Given the description of an element on the screen output the (x, y) to click on. 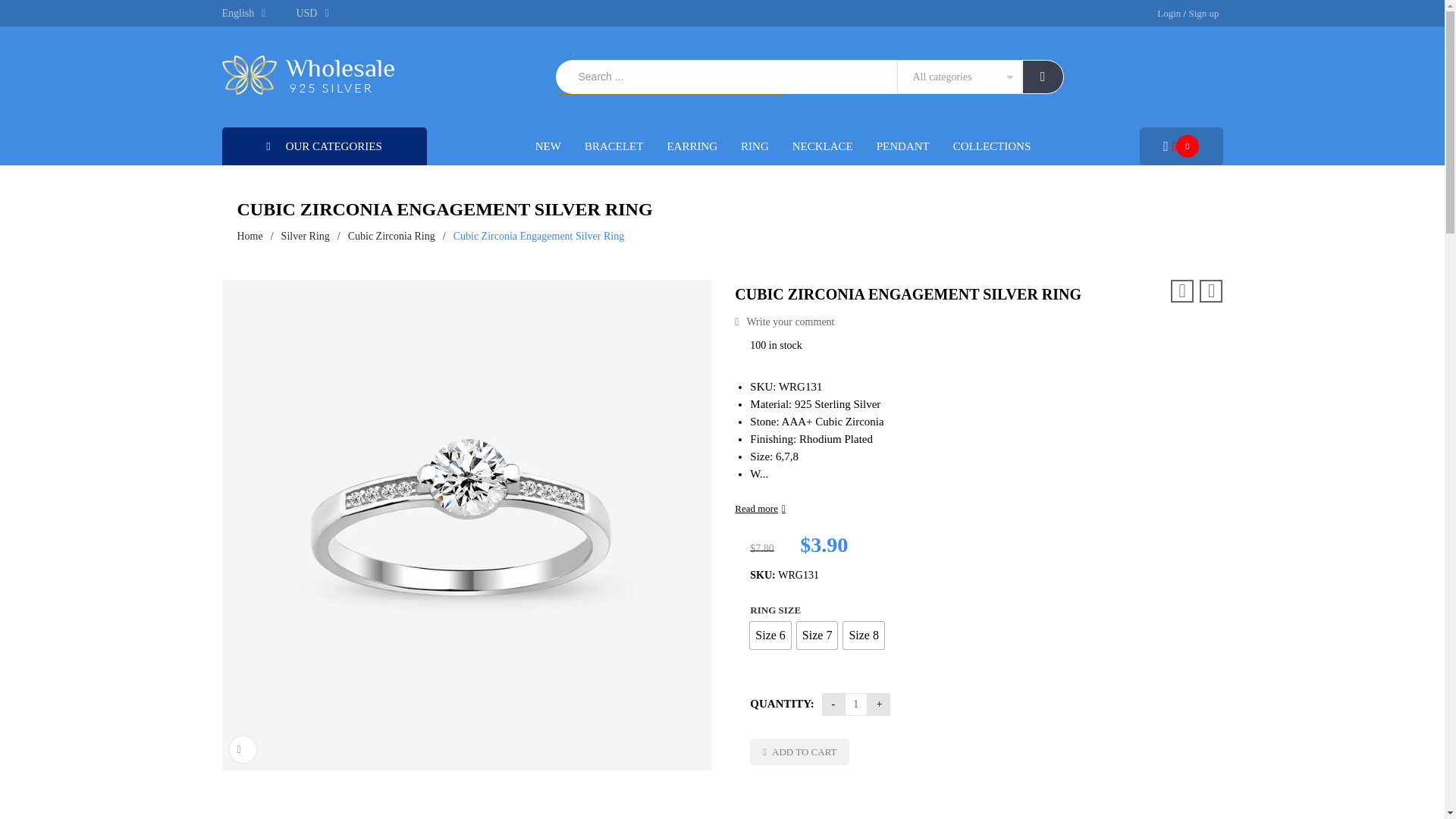
- (833, 703)
Wholesale 925 Silver (308, 76)
Cubic Zirconia Engagement Silver Ring (263, 758)
Size 6 (769, 635)
Login (1168, 12)
1 (855, 703)
Create New Account (1203, 12)
